Given the description of an element on the screen output the (x, y) to click on. 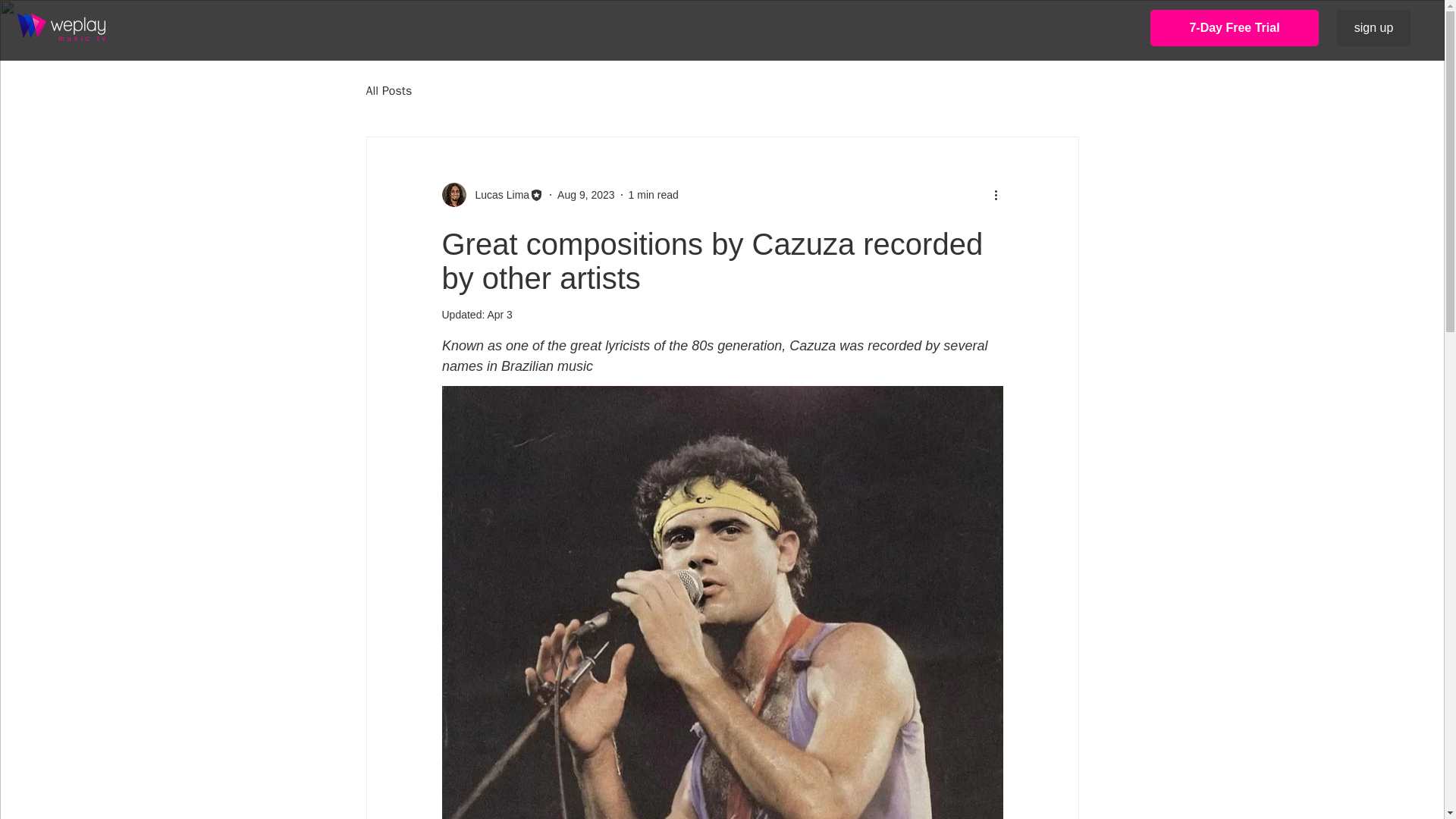
All Posts (388, 91)
sign up (1373, 27)
Apr 3 (499, 314)
Aug 9, 2023 (585, 193)
1 min read (653, 193)
7-Day Free Trial (1234, 27)
Lucas Lima (497, 194)
